Given the description of an element on the screen output the (x, y) to click on. 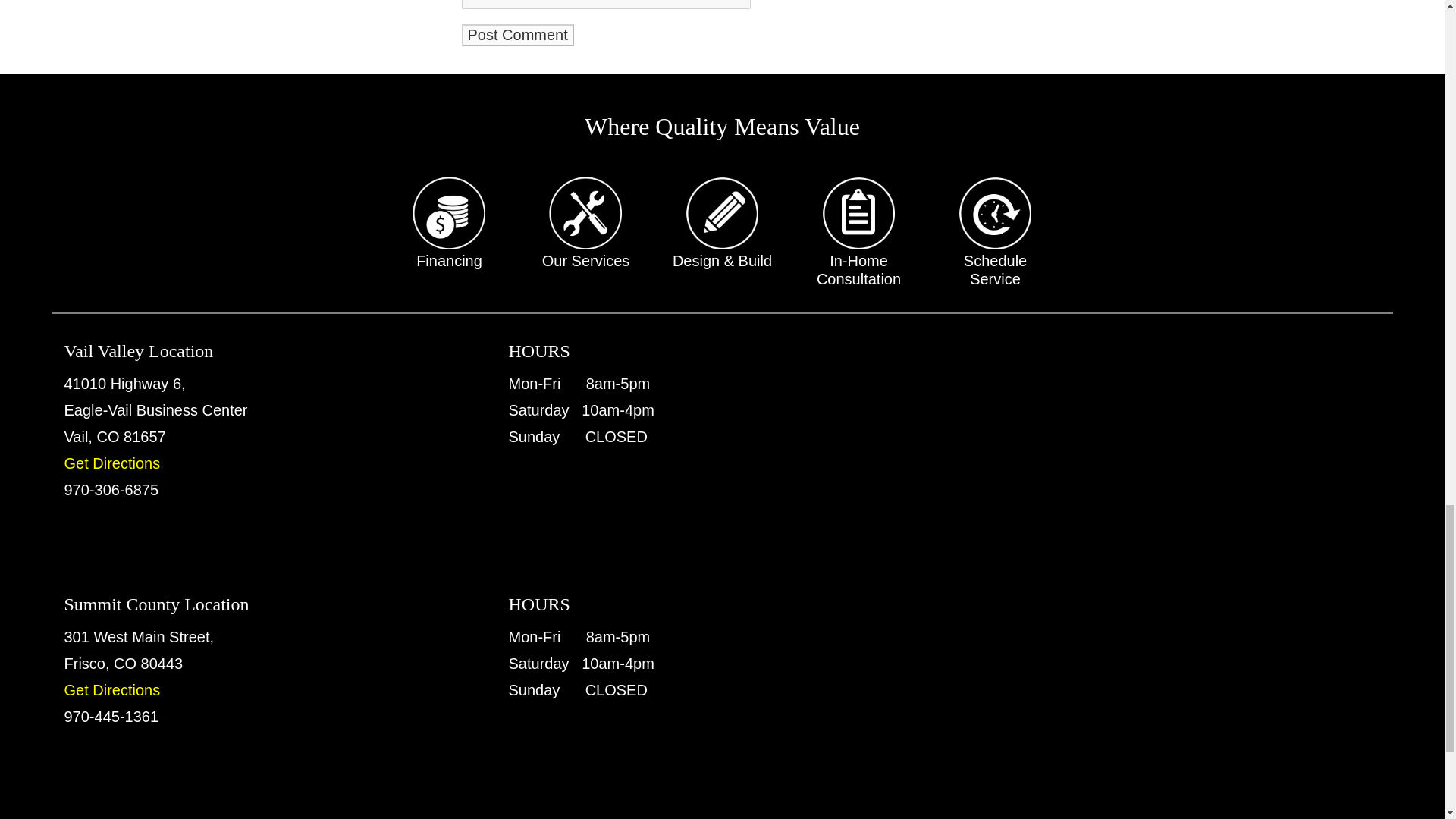
Post Comment (517, 34)
